Given the description of an element on the screen output the (x, y) to click on. 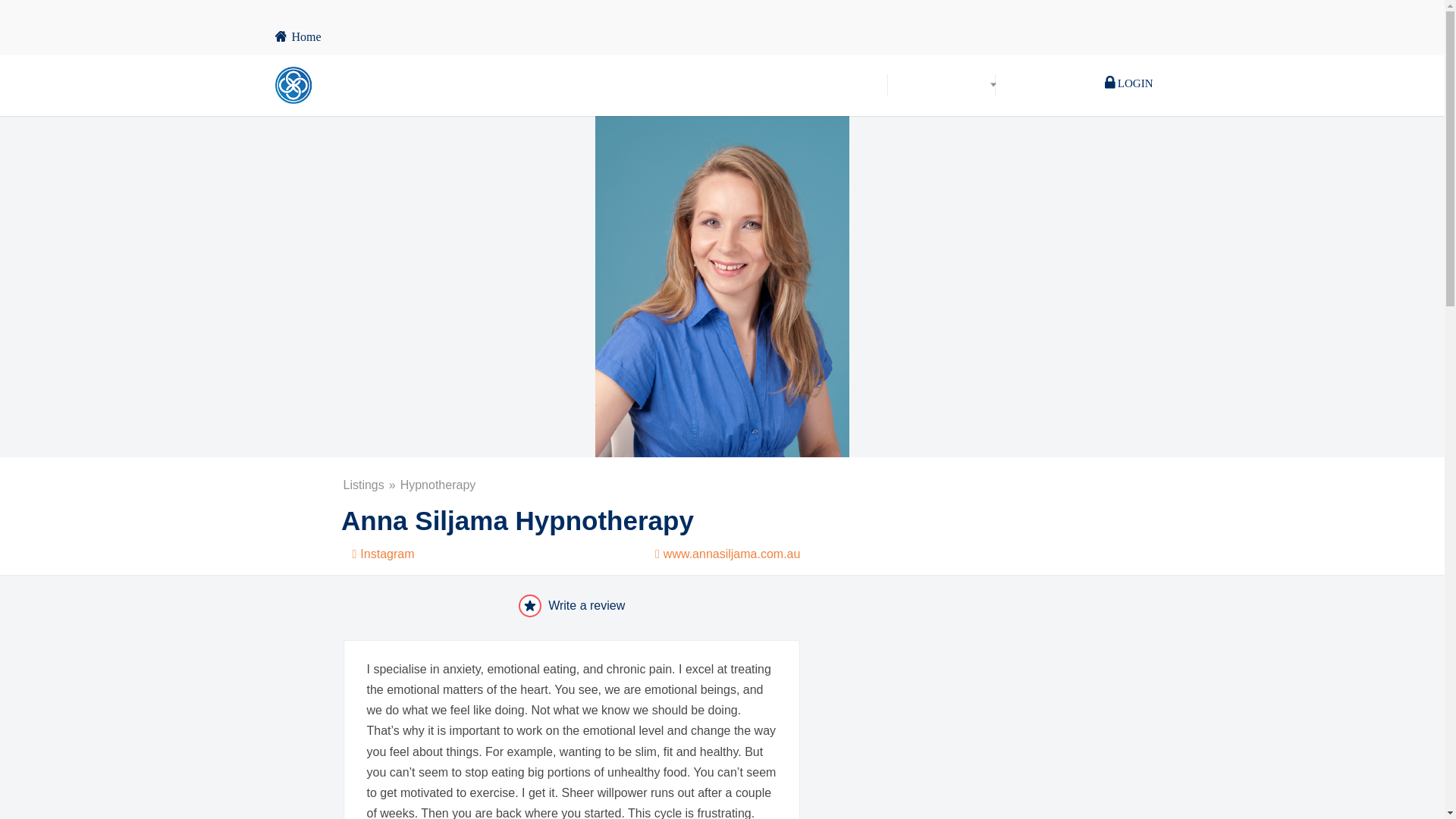
Contact Us (1034, 84)
Home (297, 36)
www.annasiljama.com.au (722, 551)
Instagram (377, 551)
Listings (370, 485)
Home (860, 84)
Hypnotherapy (438, 485)
Write a review (572, 605)
Explore Services (940, 84)
